Given the description of an element on the screen output the (x, y) to click on. 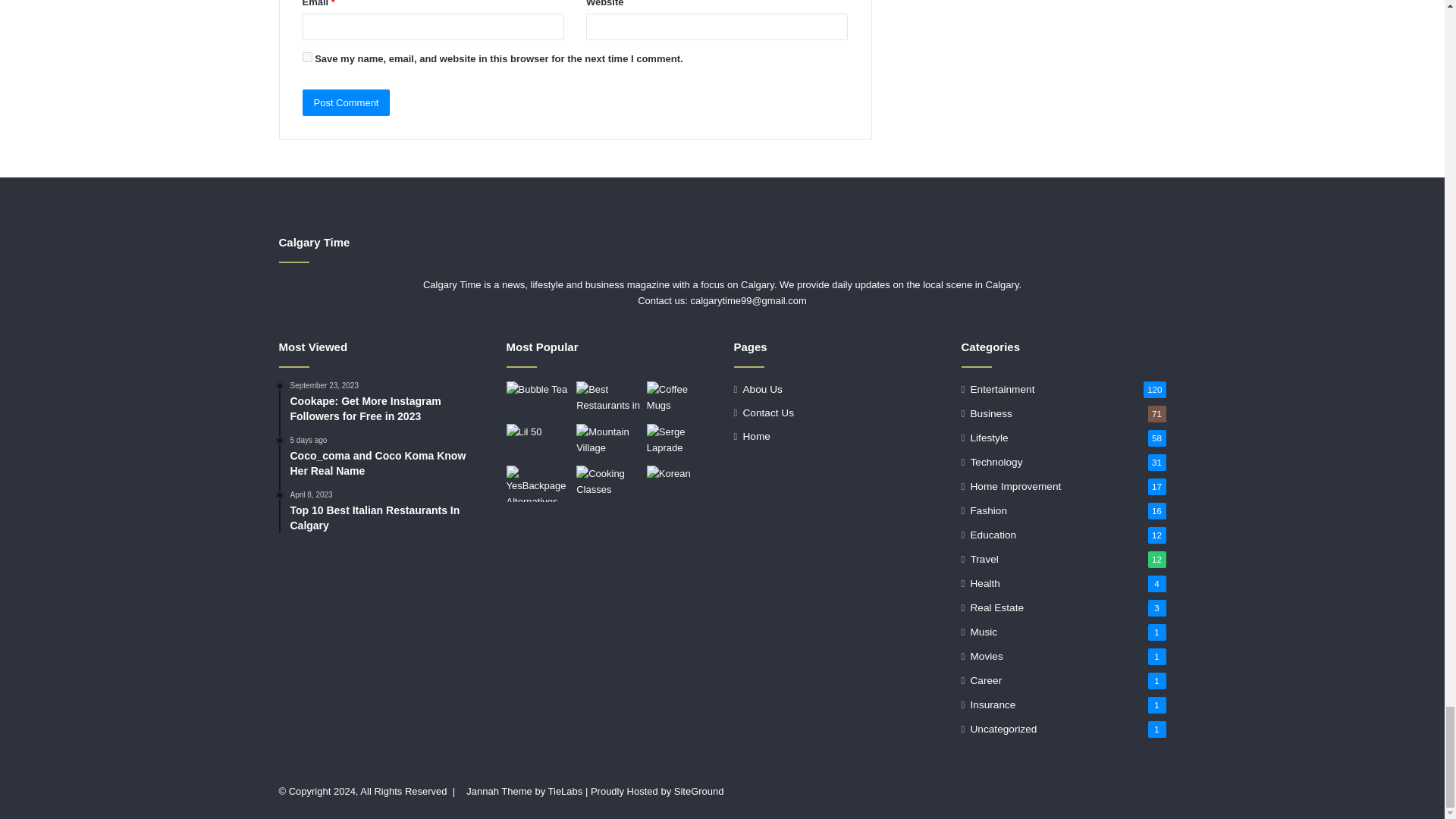
Post Comment (345, 102)
yes (306, 57)
